Given the description of an element on the screen output the (x, y) to click on. 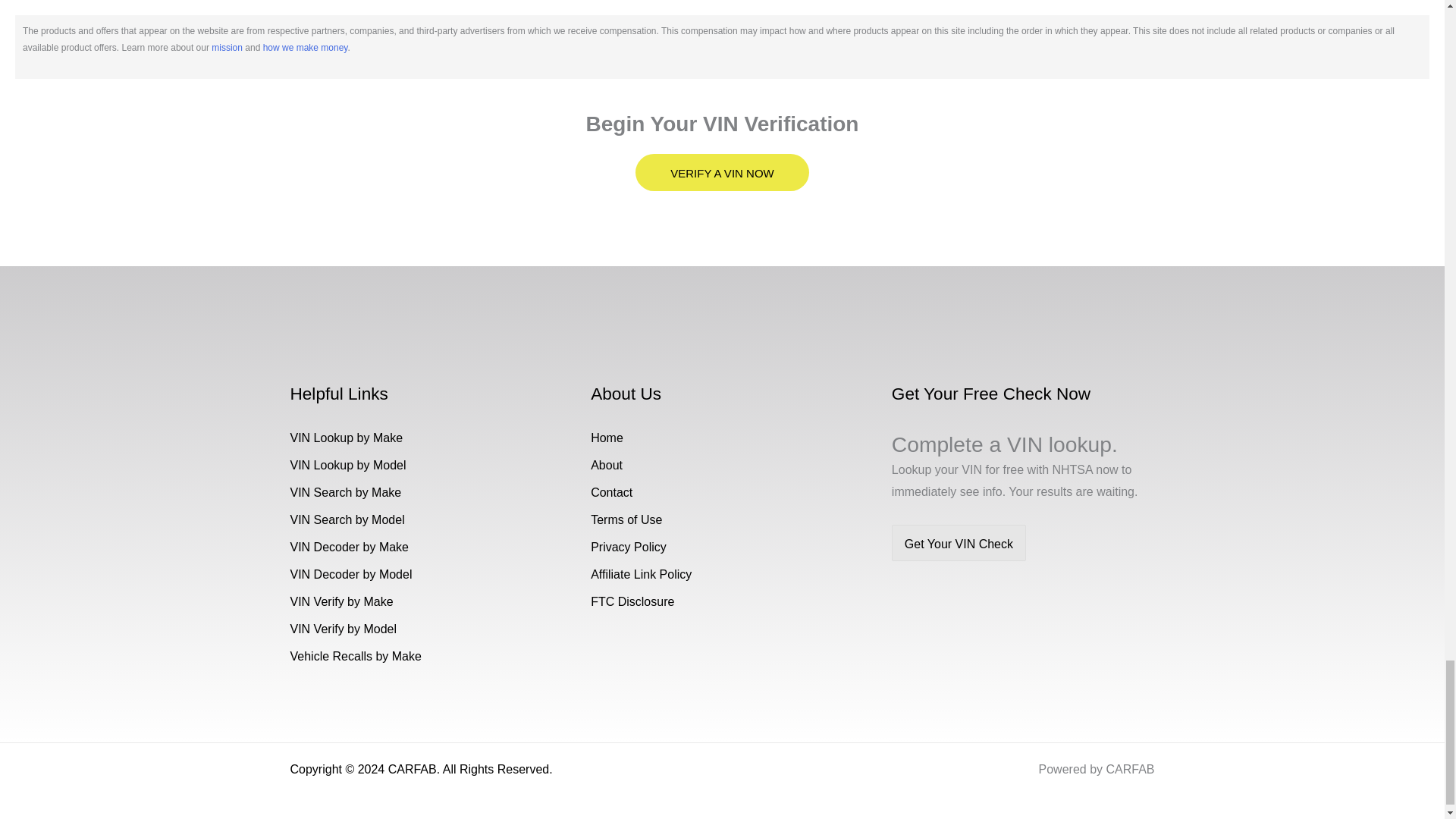
VIN Search by Model (346, 519)
how we make money (305, 47)
mission (227, 47)
Vehicle Recalls by Make (354, 656)
VIN Lookup by Make (346, 437)
VIN Lookup by Model (347, 464)
VIN Verify by Model (342, 628)
VIN Decoder by Make (349, 546)
VIN Verify by Make (341, 601)
VIN Decoder by Model (350, 574)
